Given the description of an element on the screen output the (x, y) to click on. 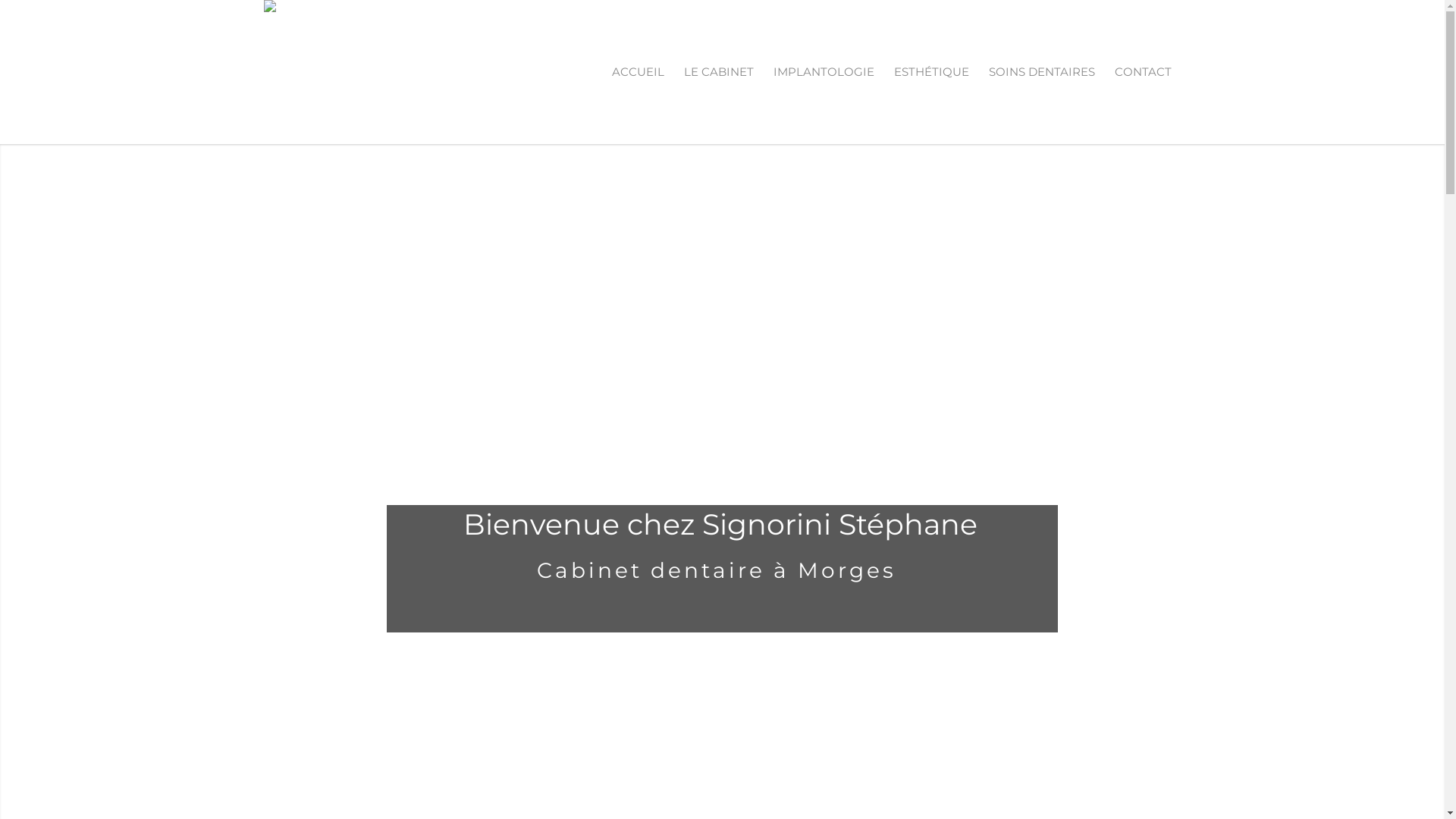
CONTACT Element type: text (1142, 72)
SOINS DENTAIRES Element type: text (1041, 72)
ACCUEIL Element type: text (638, 72)
LE CABINET Element type: text (717, 72)
IMPLANTOLOGIE Element type: text (822, 72)
logo-signorini Element type: hover (331, 22)
